Given the description of an element on the screen output the (x, y) to click on. 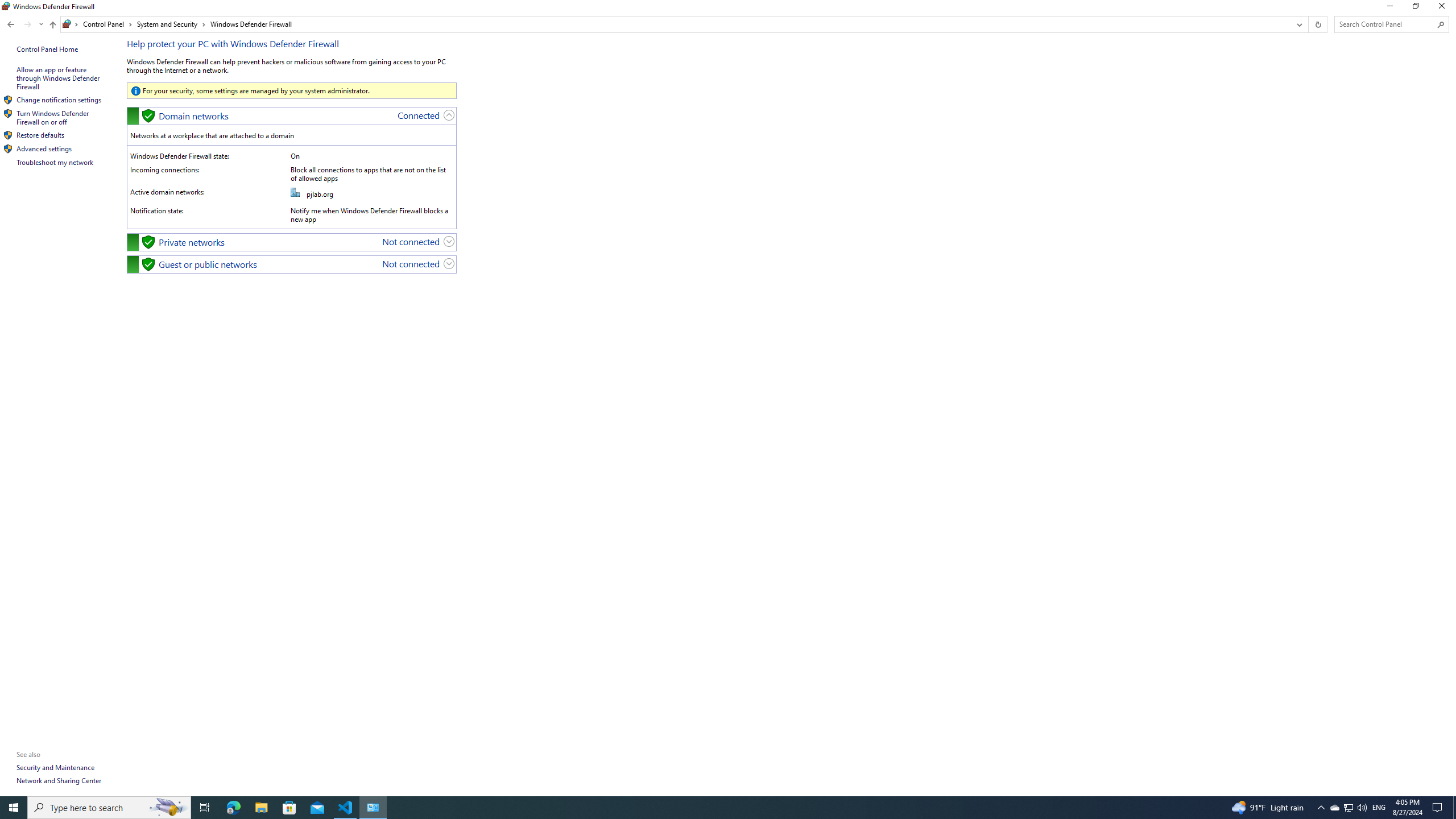
Allow an app or feature through Windows Defender Firewall (58, 77)
Search (1441, 24)
Forward (Alt + Right Arrow) (27, 23)
Icon (7, 148)
Restore defaults (40, 135)
Previous Locations (1298, 23)
Network and Sharing Center (58, 780)
Change notification settings (58, 99)
System (6, 6)
Navigation buttons (24, 23)
